Given the description of an element on the screen output the (x, y) to click on. 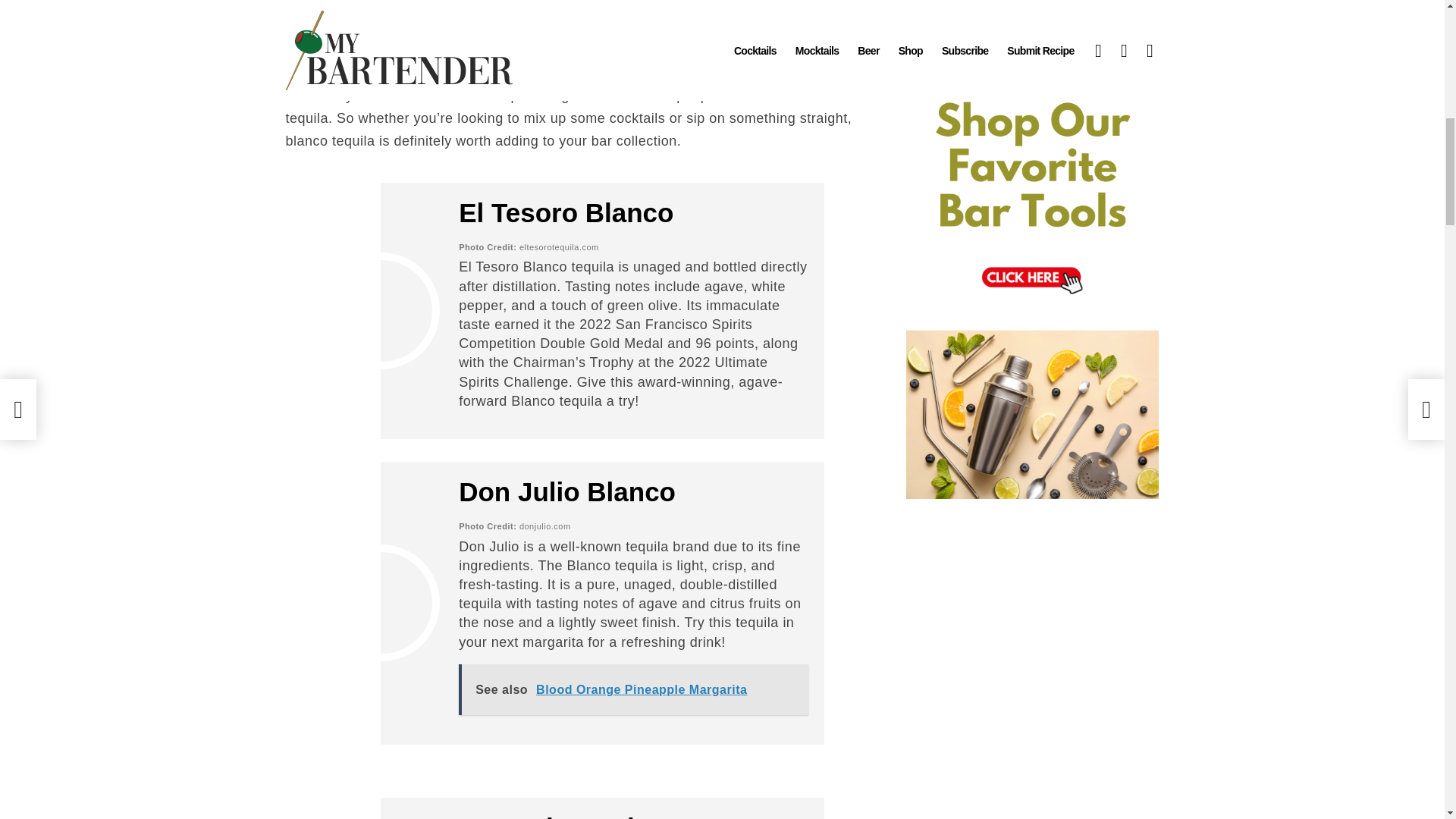
Casamigos Blanco (576, 816)
Don Julio Blanco (566, 491)
See also  Blood Orange Pineapple Margarita (633, 689)
El Tesoro Blanco (565, 212)
10 Must-Try Blanco Tequilas 2 (381, 310)
10 Must-Try Blanco Tequilas 3 (381, 602)
